Given the description of an element on the screen output the (x, y) to click on. 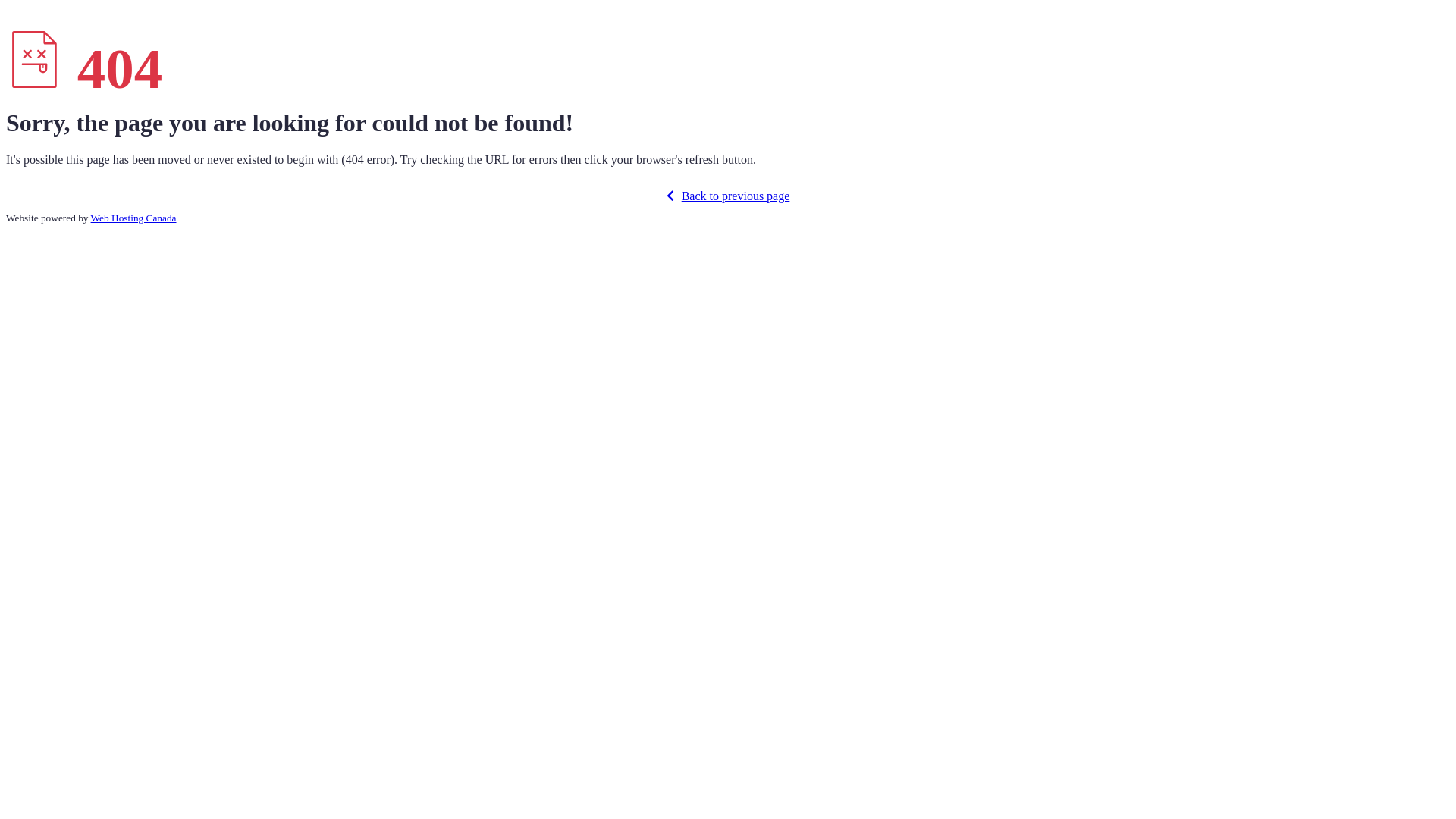
Web Hosting Canada Element type: text (133, 217)
Back to previous page Element type: text (728, 196)
